Given the description of an element on the screen output the (x, y) to click on. 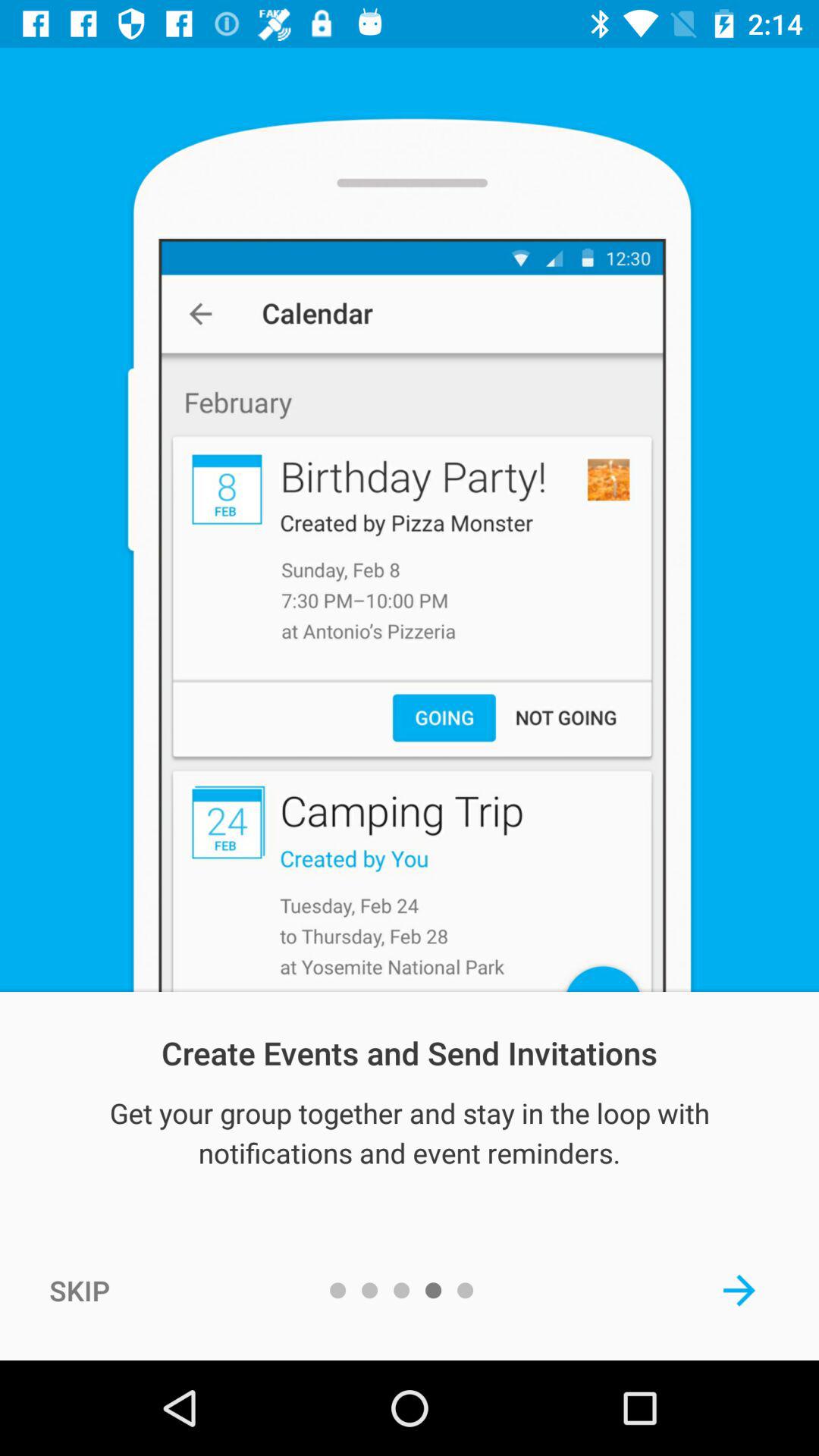
go to previous (739, 1290)
